Given the description of an element on the screen output the (x, y) to click on. 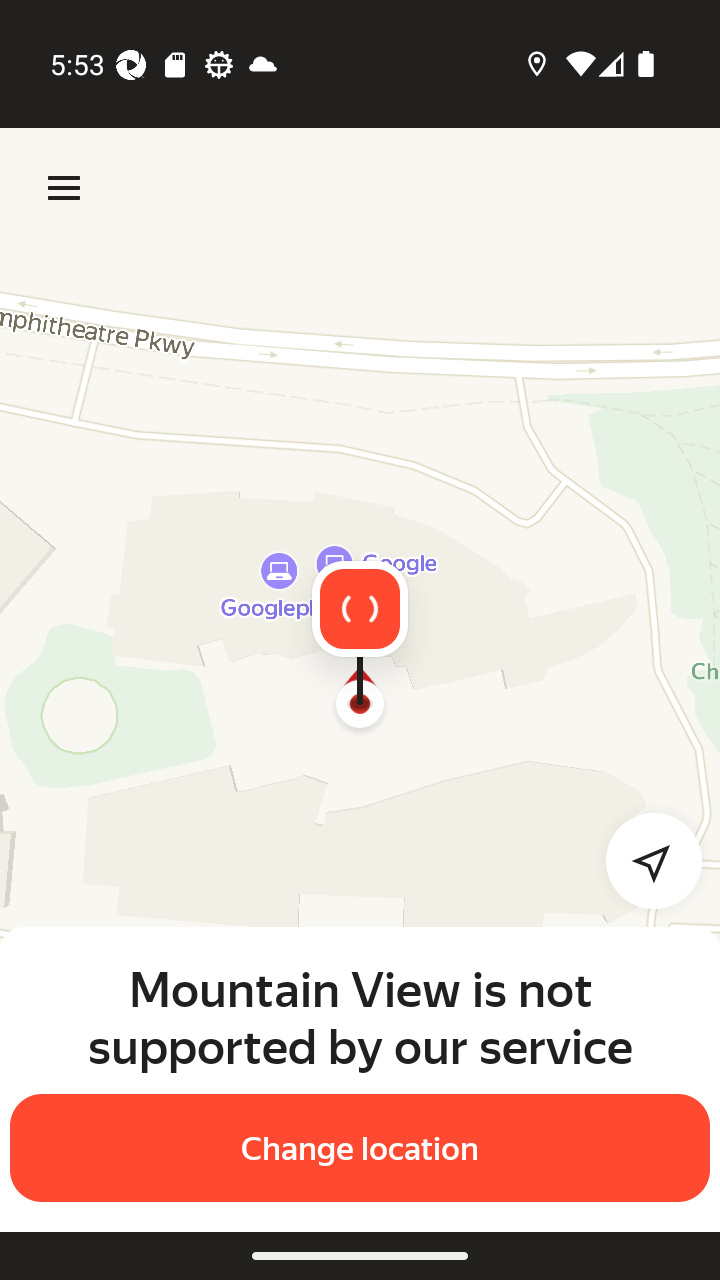
Menu Menu Menu (64, 188)
Detect my location (641, 860)
Mountain View is not supported by our service (360, 1017)
Change location (359, 1147)
